Given the description of an element on the screen output the (x, y) to click on. 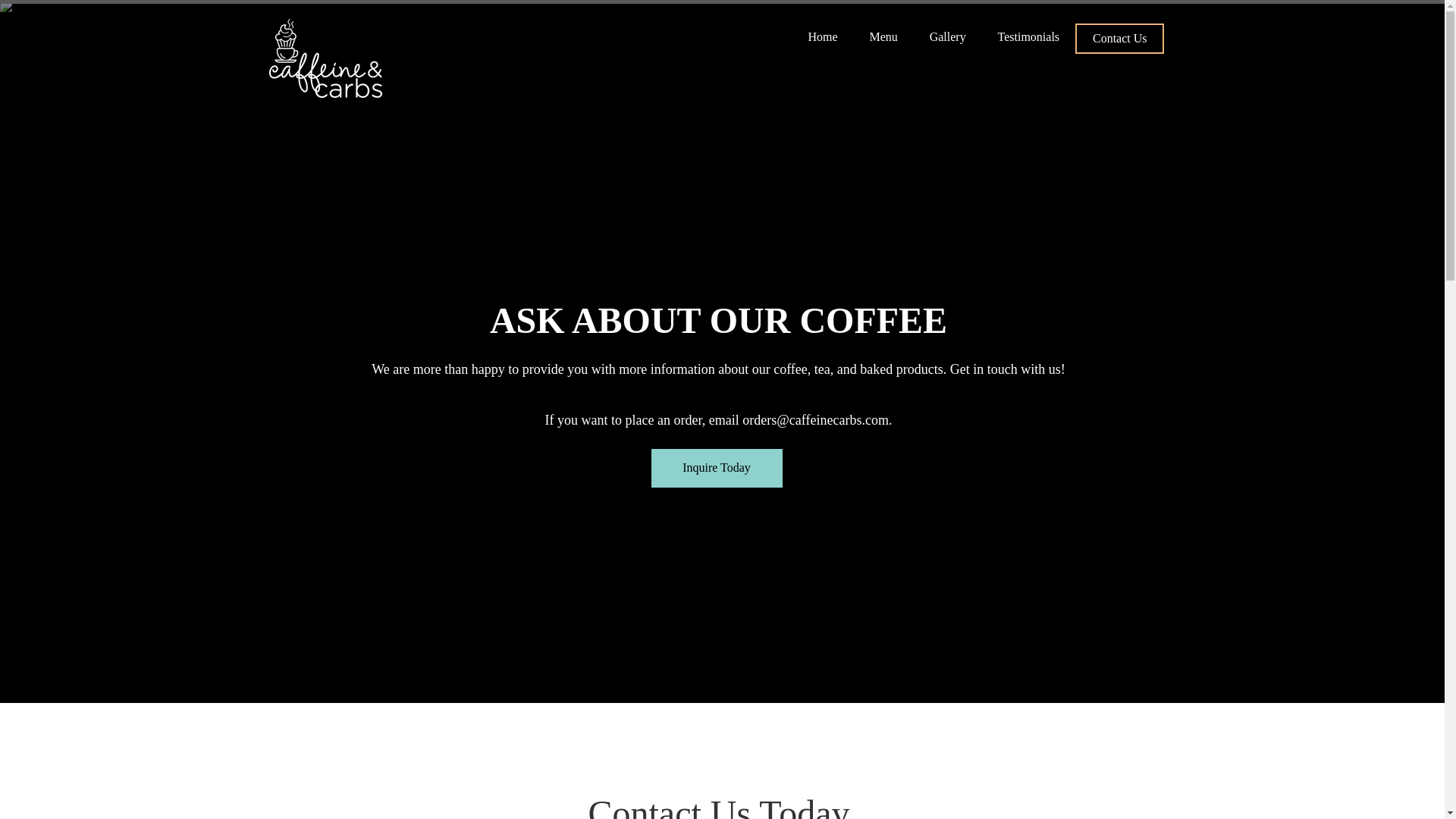
Menu (883, 36)
Contact Us (1119, 38)
Home (822, 36)
Gallery (947, 36)
Testimonials (1028, 36)
Inquire Today (715, 467)
